Given the description of an element on the screen output the (x, y) to click on. 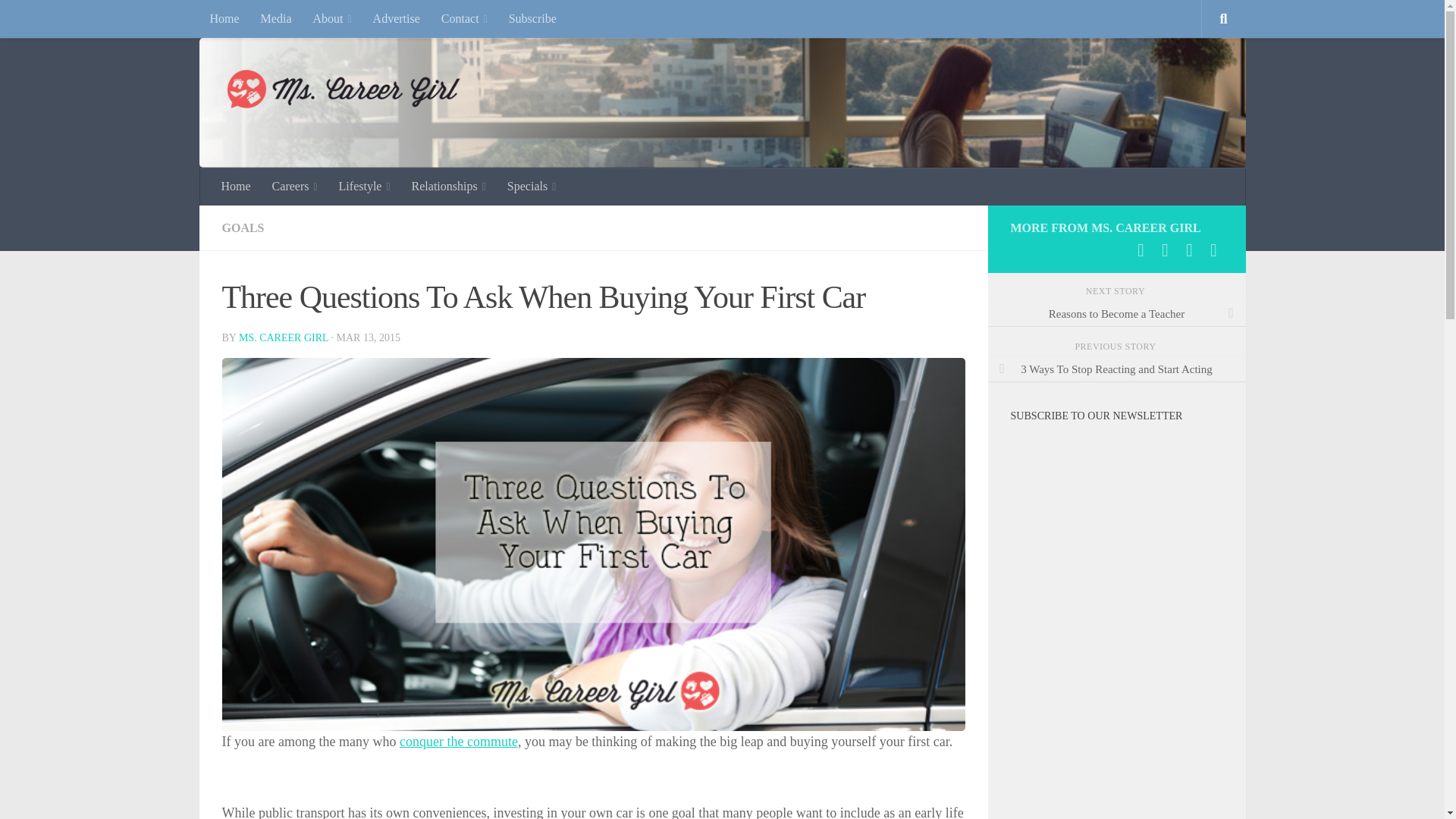
Skip to content (59, 20)
About (331, 18)
Follow us on Twitter (1164, 249)
Posts by Ms. Career Girl (283, 337)
Contact (463, 18)
Home (223, 18)
Follow us on Pinterest (1188, 249)
Follow us on Facebook (1140, 249)
Follow us on Instagram (1213, 249)
Conquering That Horrible Commute (458, 741)
Advertise (396, 18)
Media (276, 18)
Subscribe (532, 18)
